Given the description of an element on the screen output the (x, y) to click on. 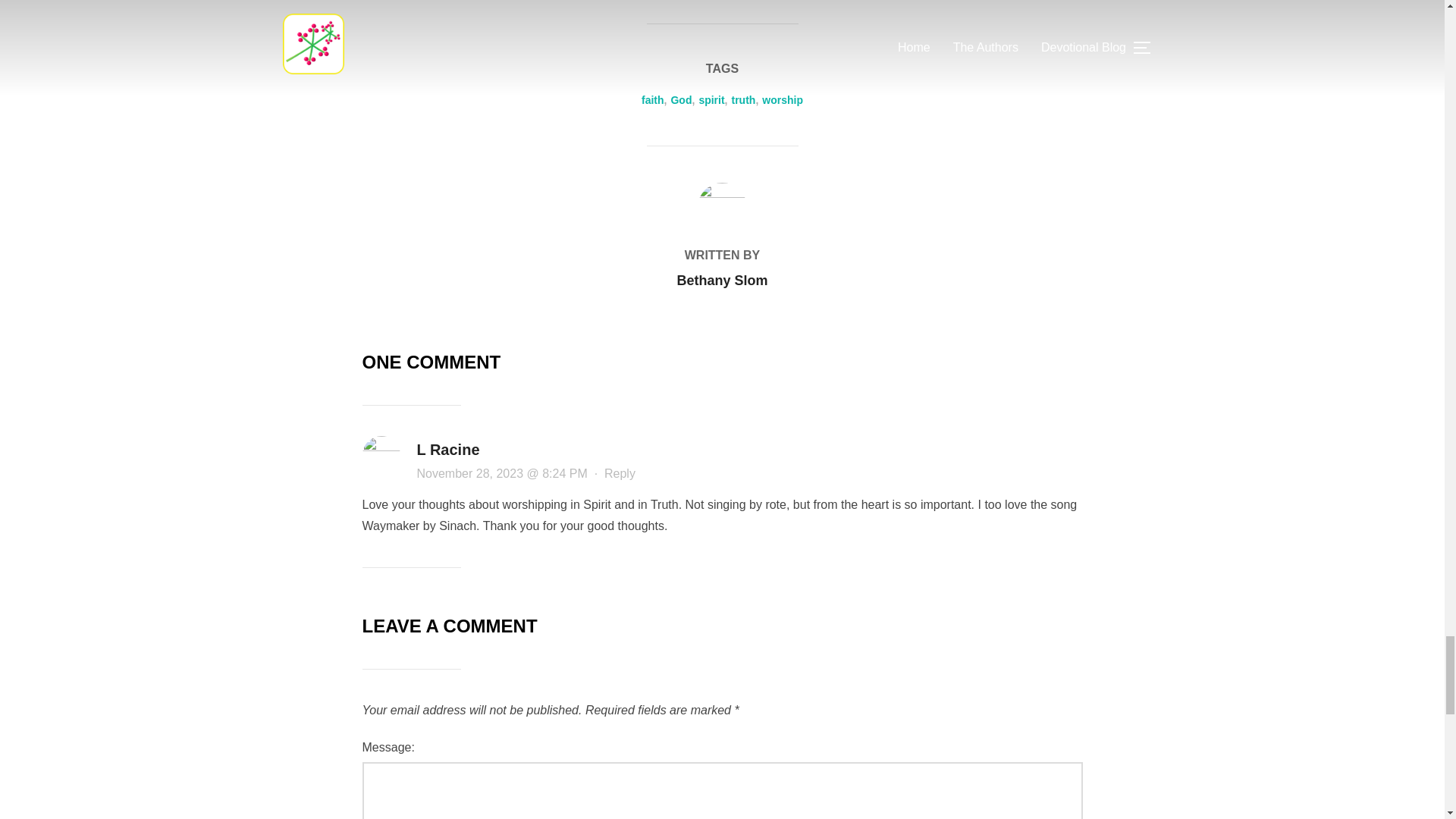
worship (782, 100)
Reply (619, 472)
God (680, 100)
faith (652, 100)
Bethany Slom (722, 280)
truth (742, 100)
Posts by Bethany Slom (722, 280)
spirit (710, 100)
